Given the description of an element on the screen output the (x, y) to click on. 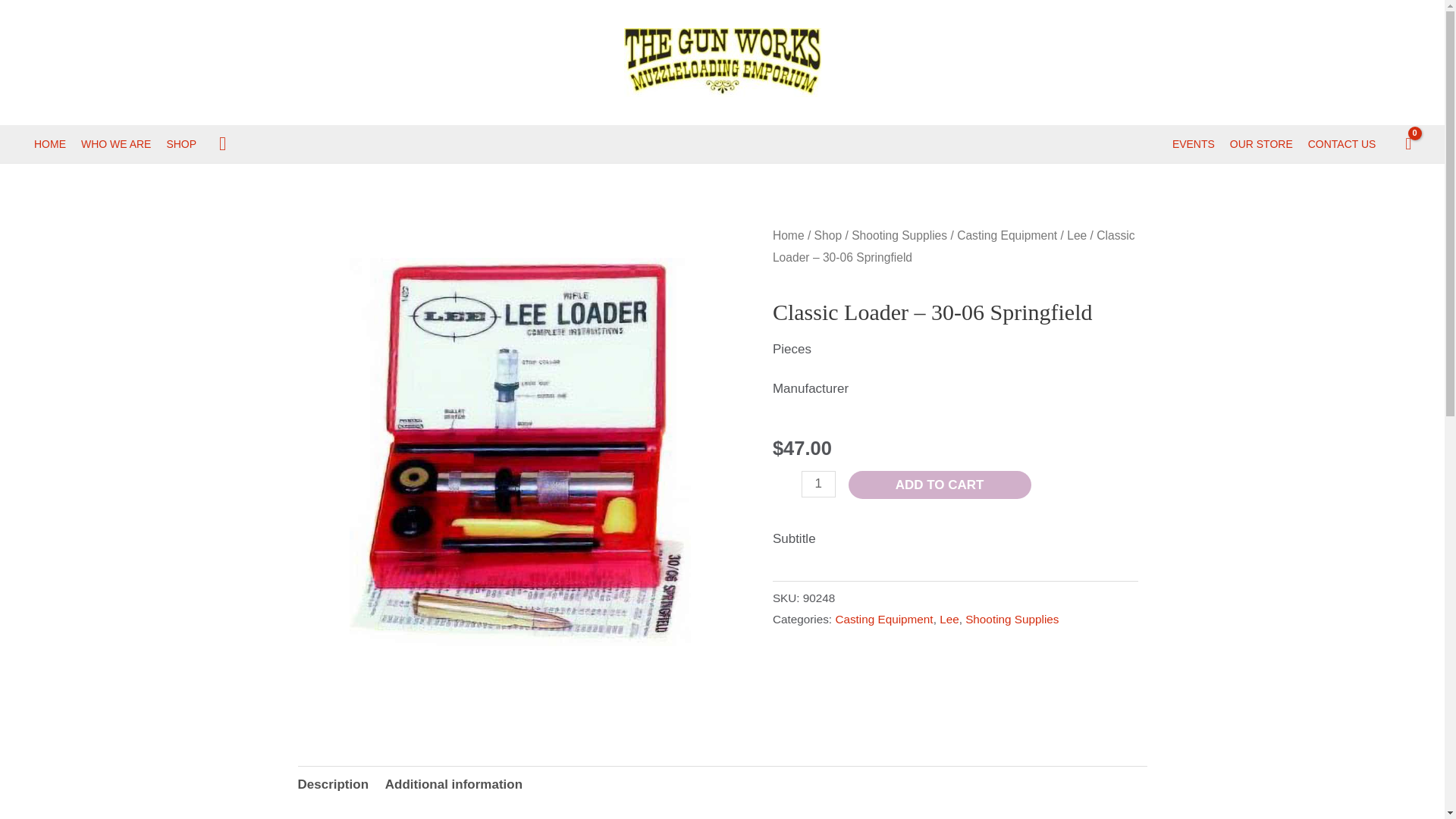
Shooting Supplies (1011, 618)
HOME (50, 143)
Casting Equipment (883, 618)
OUR STORE (1261, 143)
Casting Equipment (1006, 235)
Lee (1076, 235)
CONTACT US (1342, 143)
Lee (949, 618)
Home (789, 235)
EVENTS (1193, 143)
Additional information (453, 784)
WHO WE ARE (116, 143)
Shop (828, 235)
1 (818, 483)
Description (332, 784)
